Given the description of an element on the screen output the (x, y) to click on. 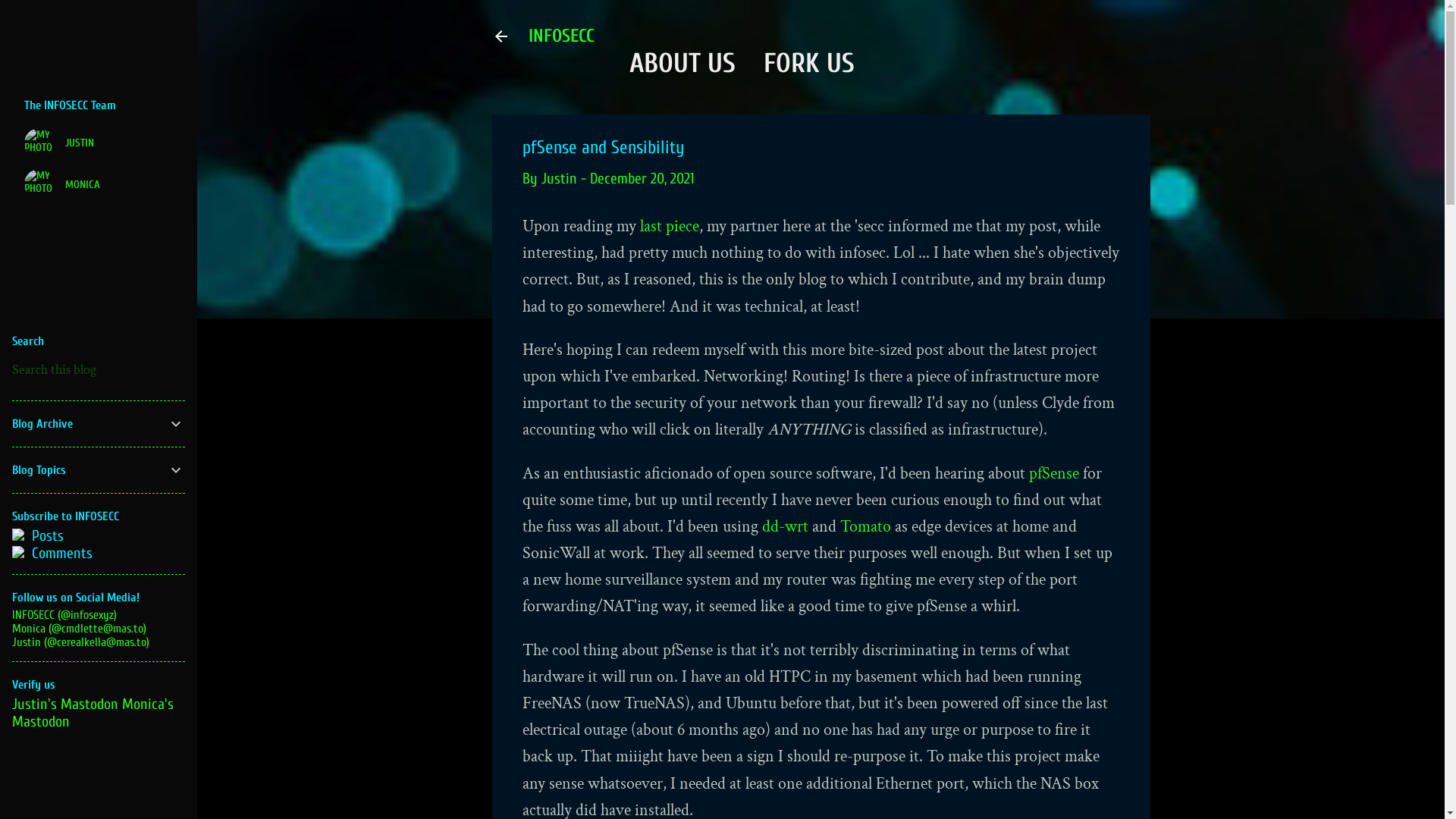
ABOUT US Element type: text (682, 63)
Tomato Element type: text (865, 526)
pfSense Element type: text (1053, 473)
INFOSECC (@infosexyz) Element type: text (64, 614)
Justin (@cerealkella@mas.to) Element type: text (80, 642)
Monica (@cmdlette@mas.to) Element type: text (79, 628)
Monica's Mastodon Element type: text (92, 712)
JUSTIN Element type: text (98, 143)
INFOSECC Element type: text (560, 35)
December 20, 2021 Element type: text (641, 178)
MONICA Element type: text (98, 184)
Comments Element type: text (98, 552)
Justin's Mastodon Element type: text (65, 703)
last piece Element type: text (669, 226)
dd-wrt Element type: text (784, 526)
Posts Element type: text (98, 535)
Search Element type: text (29, 18)
Justin Element type: text (559, 178)
Posts Element type: text (45, 535)
FORK US Element type: text (807, 63)
Comments Element type: text (60, 552)
